Given the description of an element on the screen output the (x, y) to click on. 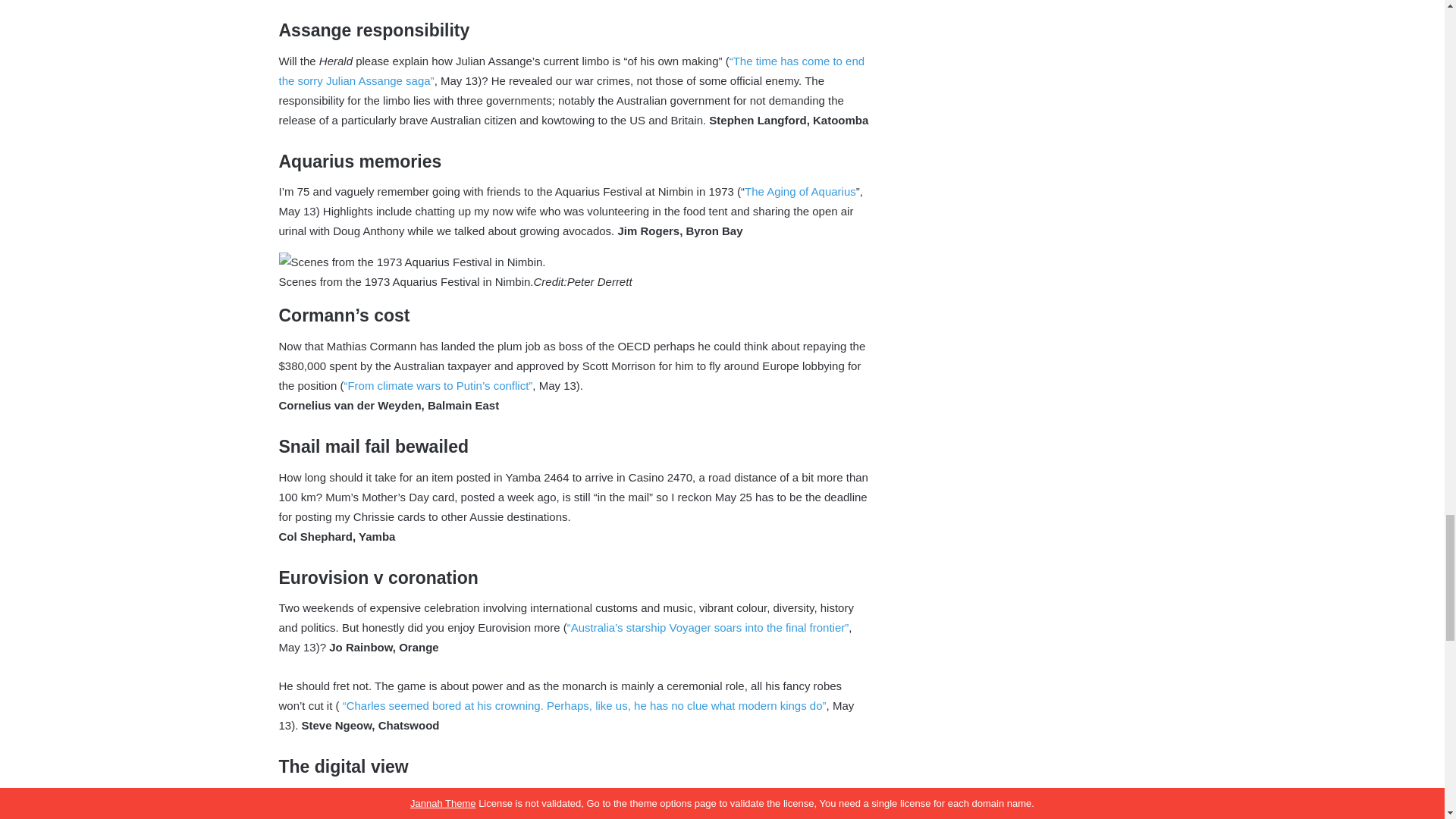
smh.com.au (781, 797)
The Aging of Aquarius (800, 191)
